Given the description of an element on the screen output the (x, y) to click on. 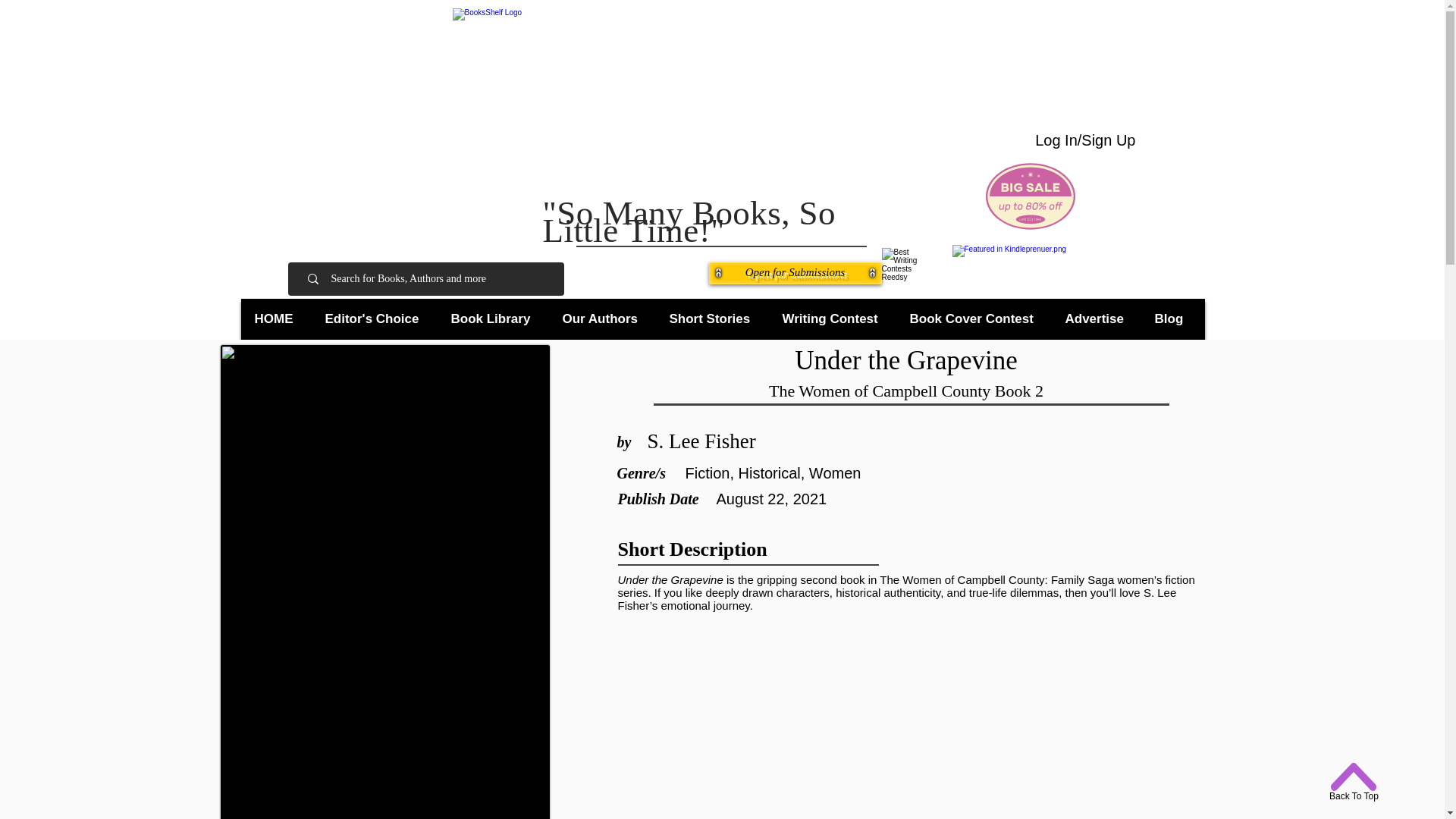
Editor's Choice (375, 319)
HOME (278, 319)
Short Stories (713, 319)
BooksShelf (705, 104)
